Given the description of an element on the screen output the (x, y) to click on. 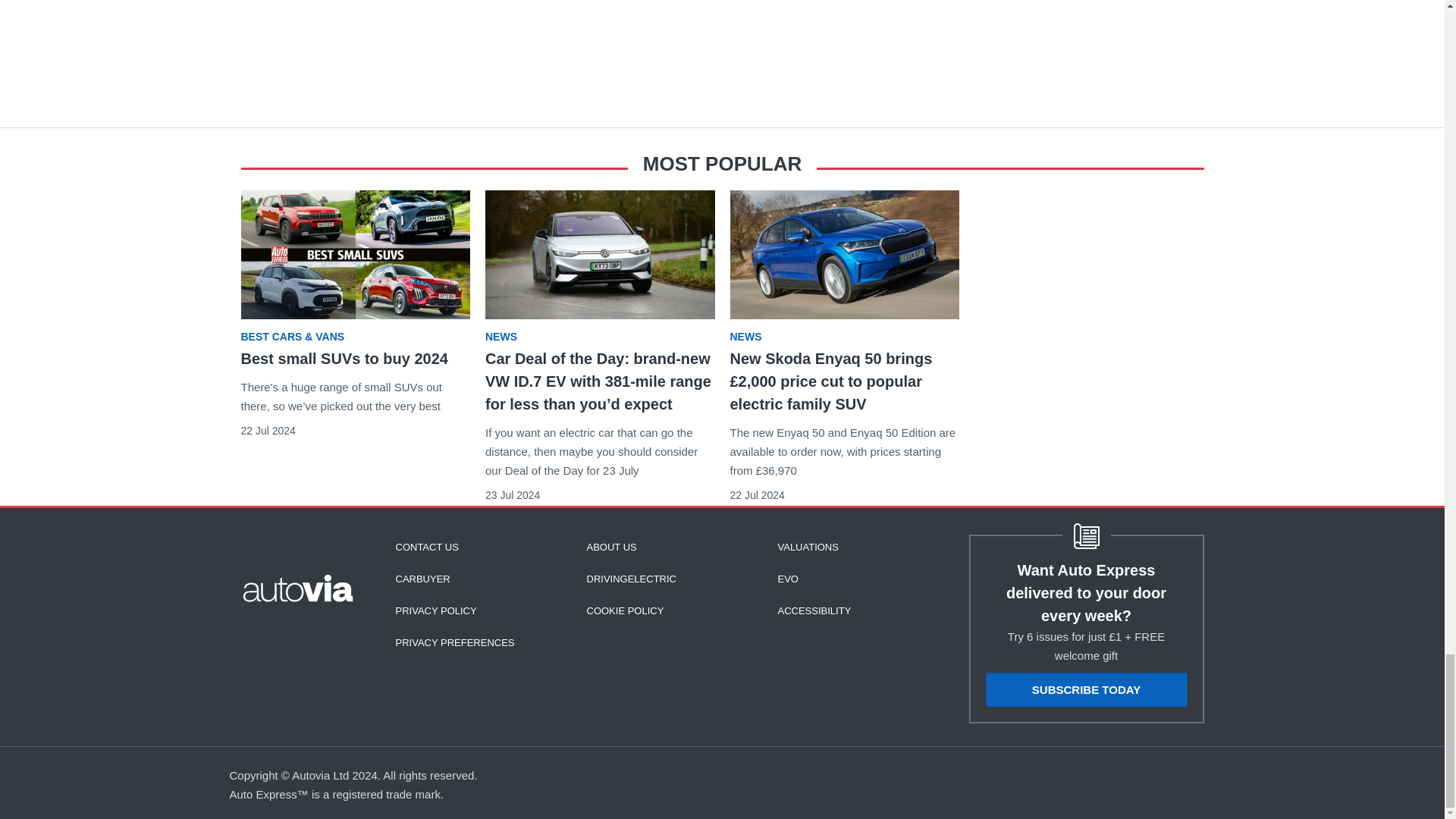
SUBSCRIBE TODAY (1086, 689)
